Given the description of an element on the screen output the (x, y) to click on. 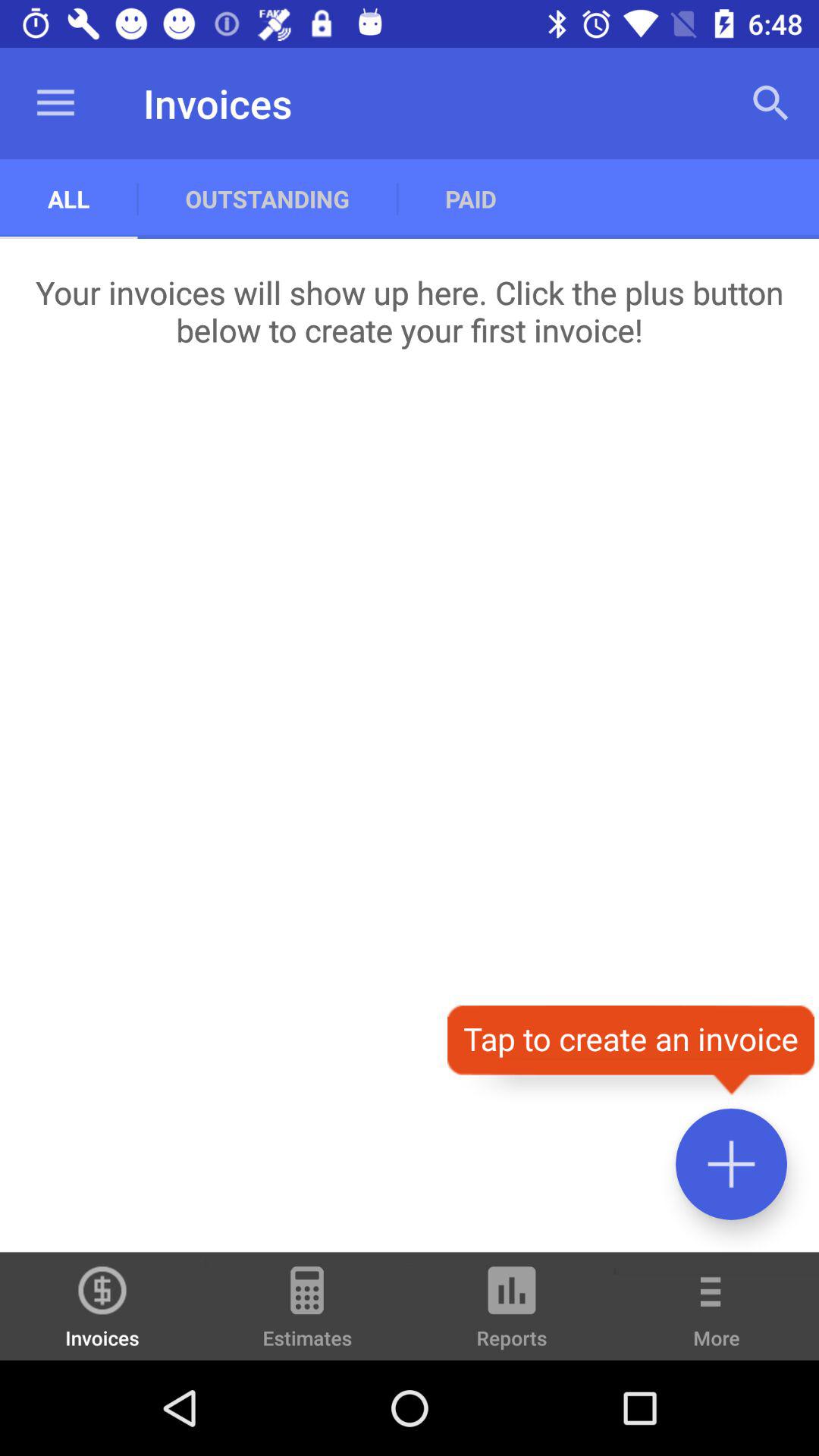
press the icon at the top right corner (771, 103)
